Given the description of an element on the screen output the (x, y) to click on. 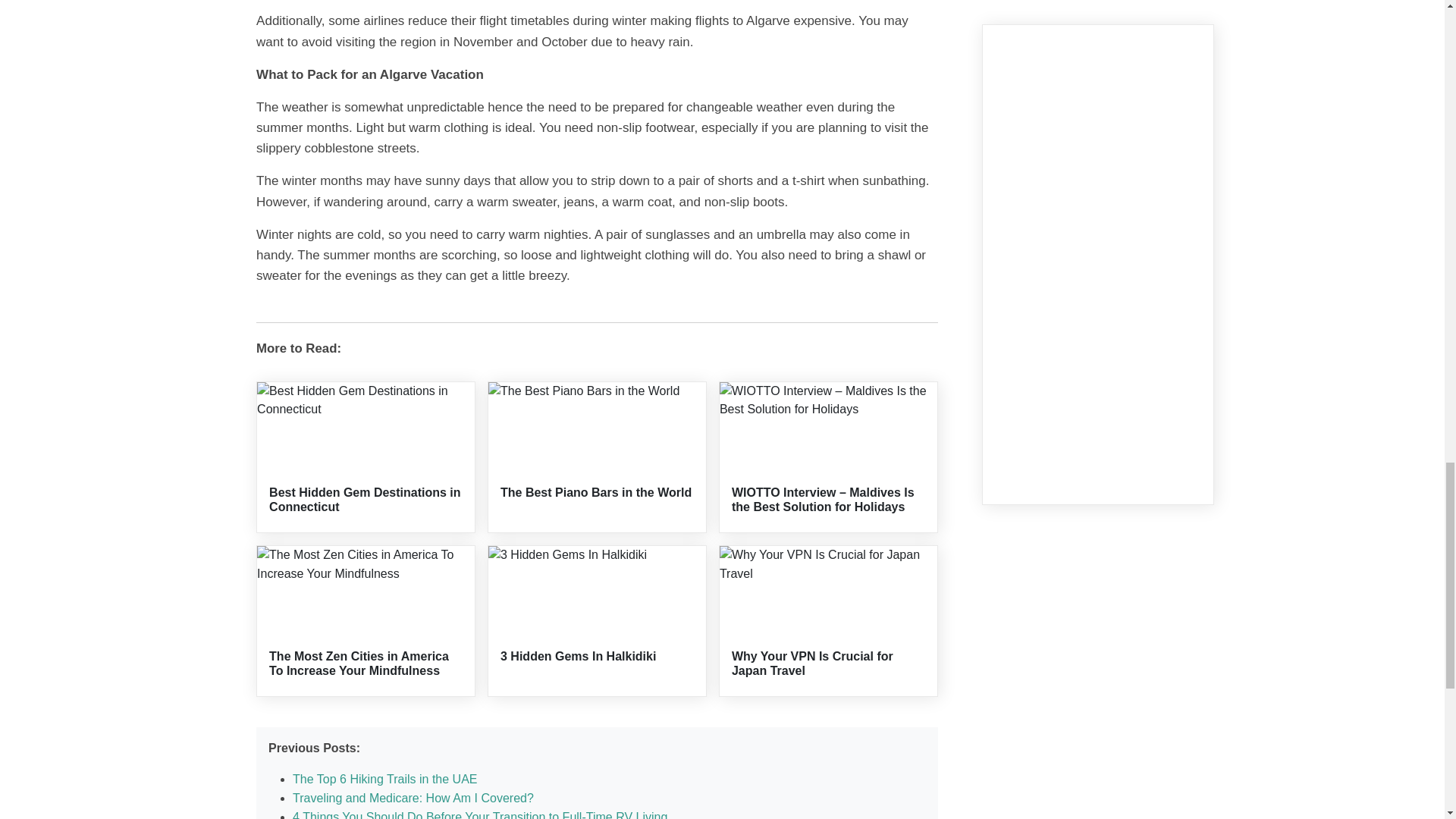
Traveling and Medicare: How Am I Covered? (413, 797)
The Top 6 Hiking Trails in the UAE (384, 779)
Why Your VPN Is Crucial for Japan Travel (812, 663)
The Most Zen Cities in America To Increase Your Mindfulness (358, 663)
3 Hidden Gems In Halkidiki (578, 656)
Best Hidden Gem Destinations in Connecticut (364, 499)
The Best Piano Bars in the World (595, 492)
